Given the description of an element on the screen output the (x, y) to click on. 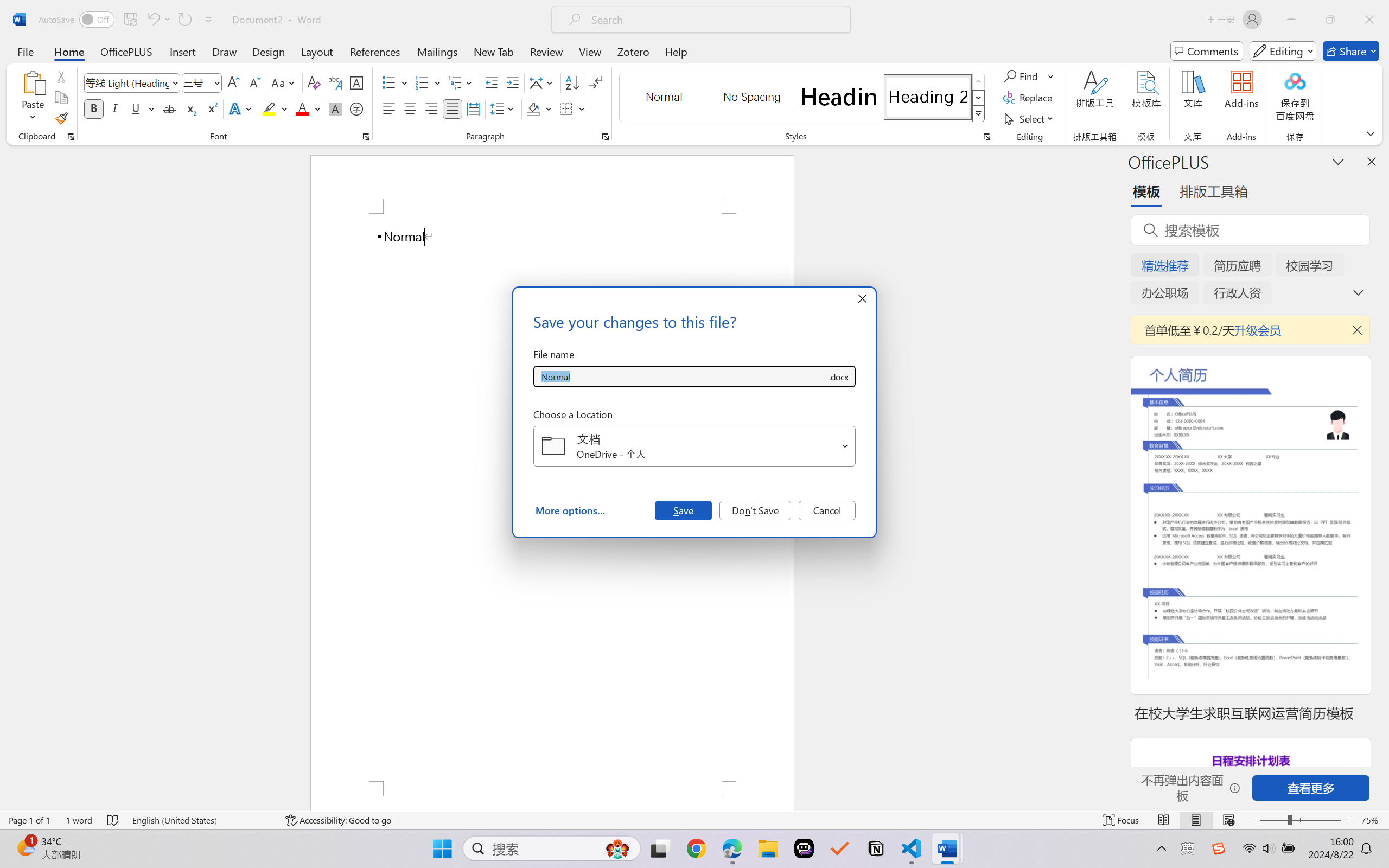
Choose a Location (694, 446)
Styles (978, 113)
Copy (60, 97)
Language English (United States) (201, 819)
Word Count 1 word (78, 819)
Asian Layout (542, 82)
Bullets (388, 82)
Draw (224, 51)
Shading RGB(0, 0, 0) (533, 108)
Row Down (978, 97)
Cancel (826, 509)
Find (1029, 75)
